Given the description of an element on the screen output the (x, y) to click on. 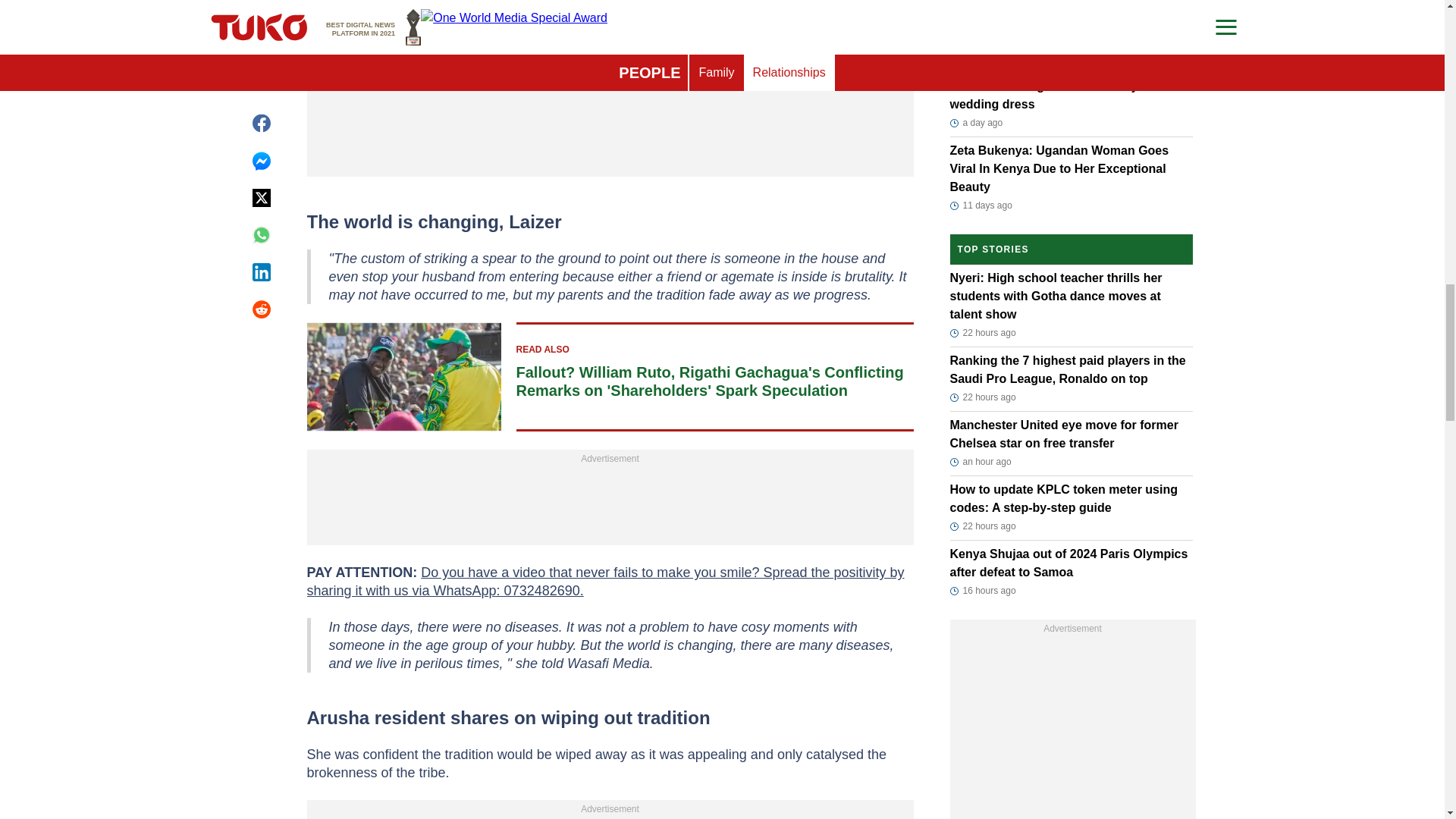
3rd party ad content (609, 83)
